Given the description of an element on the screen output the (x, y) to click on. 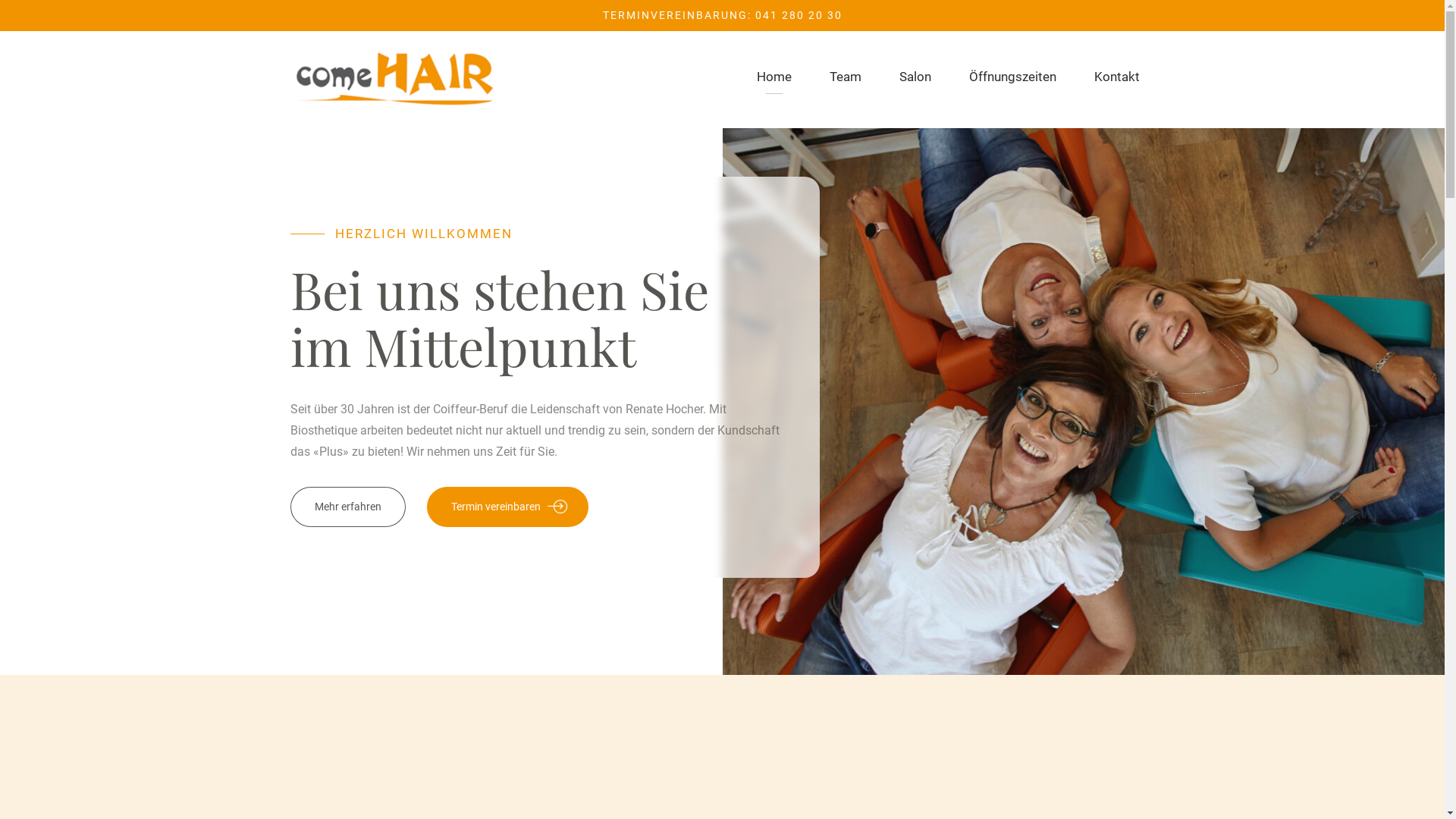
Salon Element type: text (915, 76)
Mehr erfahren Element type: text (346, 506)
Team Element type: text (845, 76)
Kontakt Element type: text (1116, 76)
Termin vereinbaren Element type: text (507, 506)
Home Element type: text (773, 76)
